Given the description of an element on the screen output the (x, y) to click on. 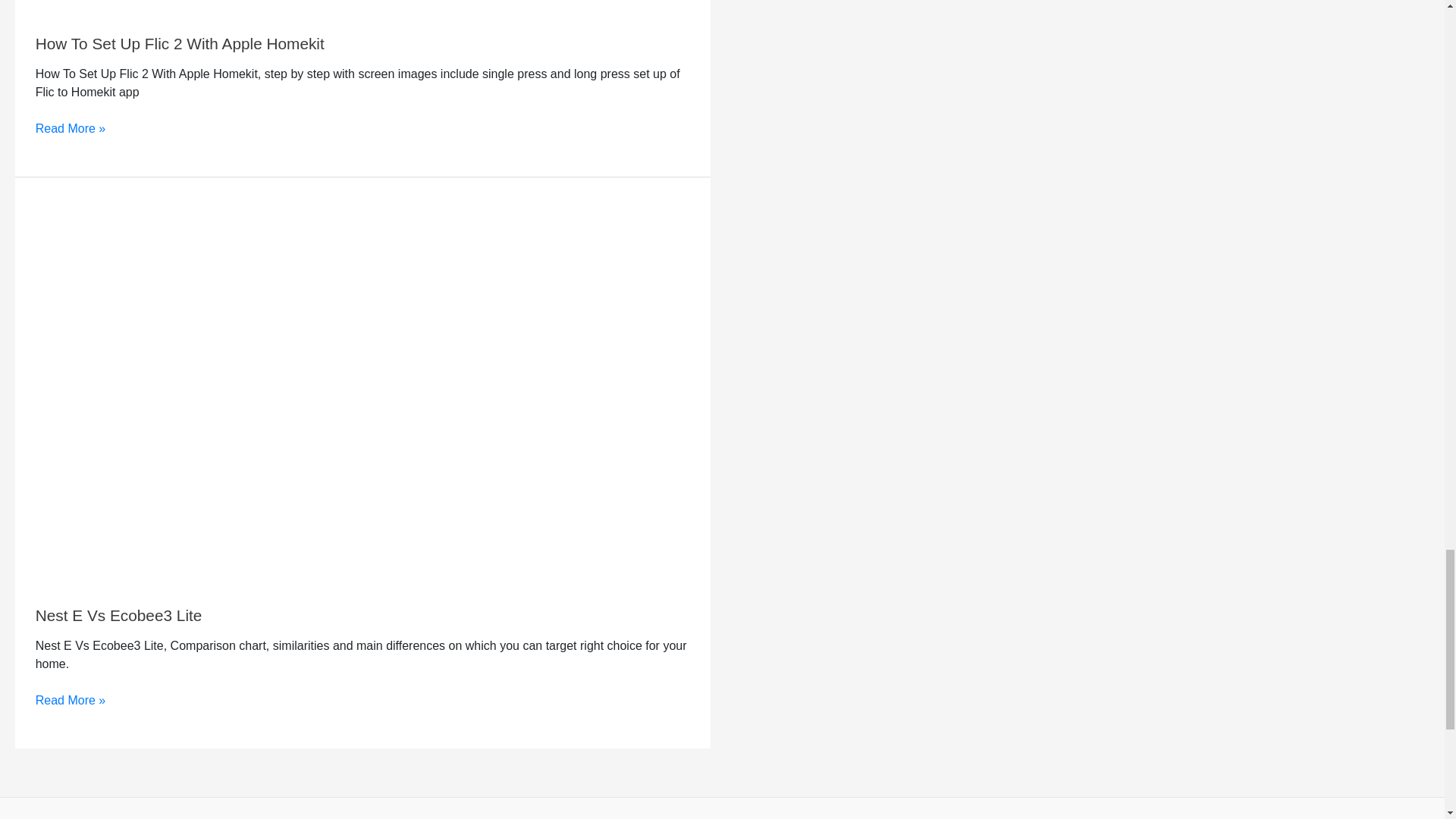
How To Set Up Flic 2 With Apple Homekit (179, 43)
Nest E Vs Ecobee3 Lite (118, 615)
